Given the description of an element on the screen output the (x, y) to click on. 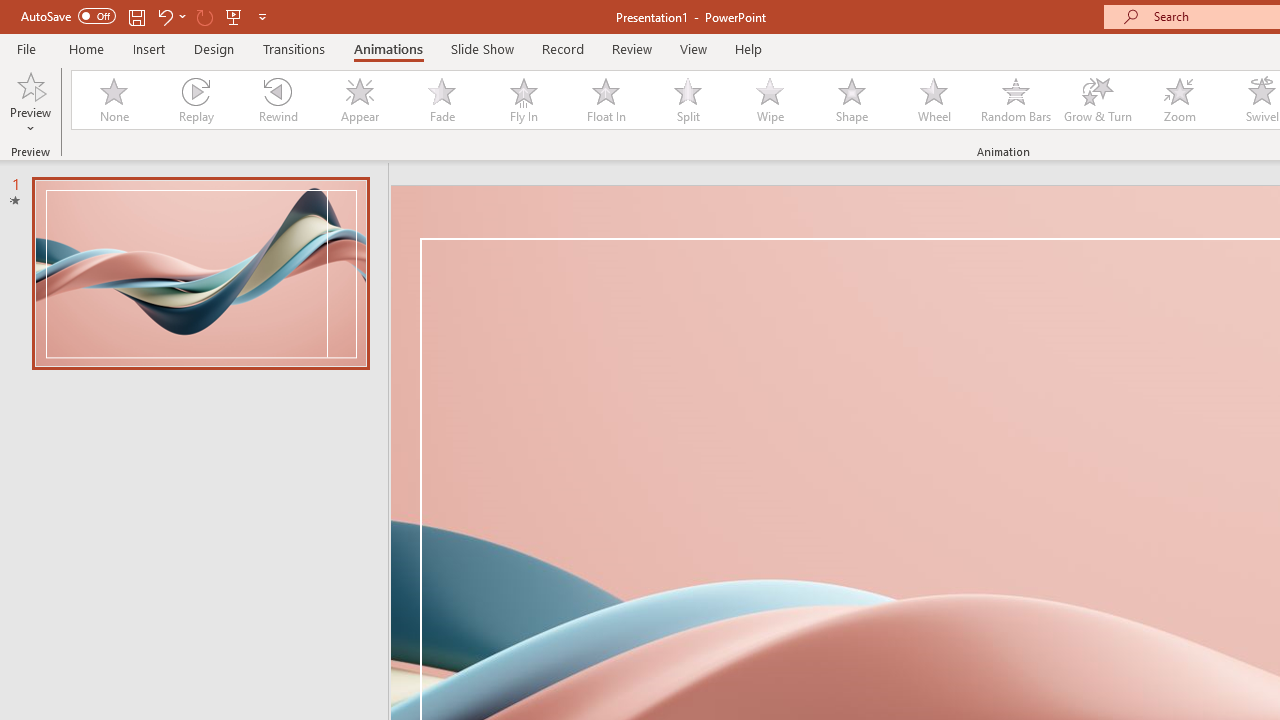
Grow & Turn (1098, 100)
